Given the description of an element on the screen output the (x, y) to click on. 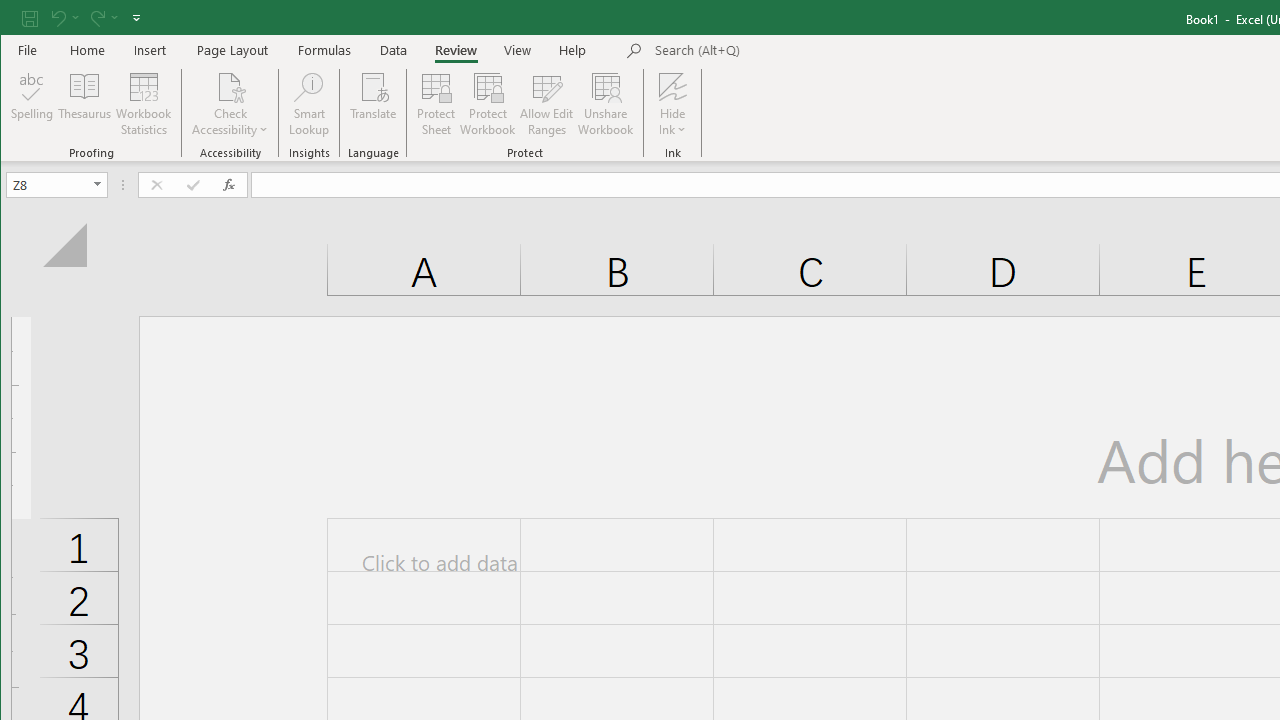
Hide Ink (672, 86)
Allow Edit Ranges (547, 104)
Home (87, 50)
Smart Lookup (308, 104)
Check Accessibility (230, 104)
Thesaurus... (84, 104)
Translate (373, 104)
Workbook Statistics (143, 104)
Unshare Workbook (606, 104)
View (518, 50)
Hide Ink (672, 104)
